Given the description of an element on the screen output the (x, y) to click on. 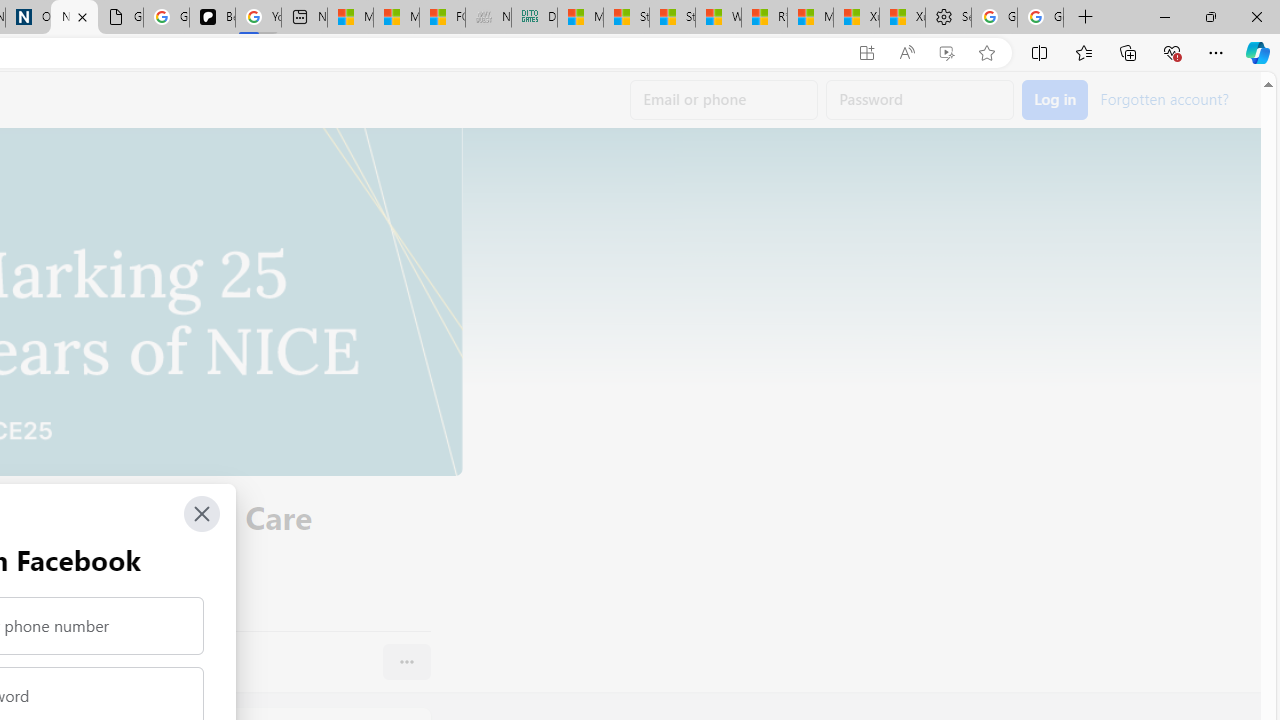
FOX News - MSN (441, 17)
R******* | Trusted Community Engagement and Contributions (764, 17)
Forgotten account? (1163, 97)
